Given the description of an element on the screen output the (x, y) to click on. 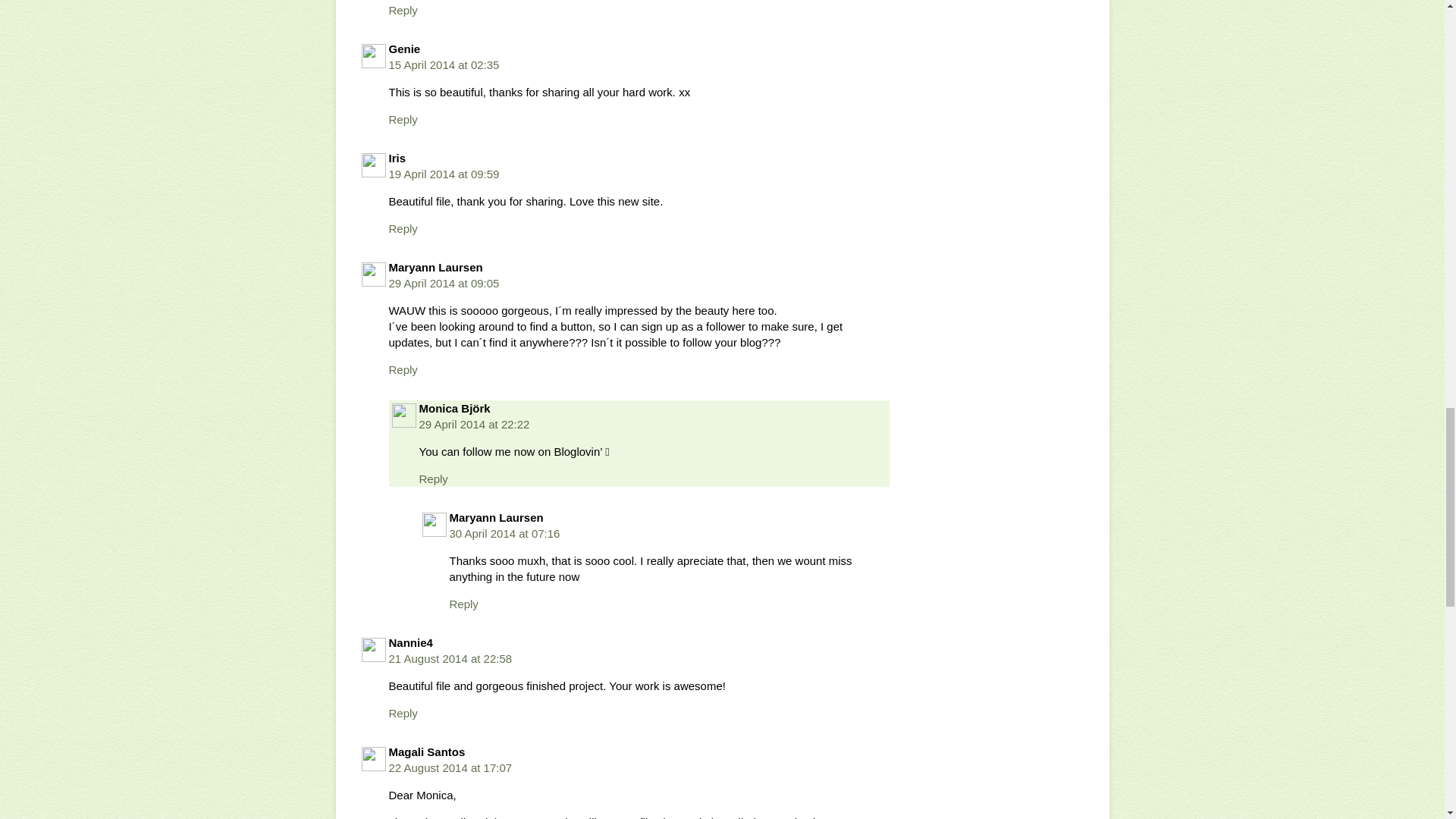
Reply (402, 369)
22 August 2014 at 17:07 (450, 767)
Reply (402, 228)
21 August 2014 at 22:58 (450, 658)
Reply (402, 712)
29 April 2014 at 22:22 (474, 423)
Reply (462, 603)
29 April 2014 at 09:05 (443, 282)
19 April 2014 at 09:59 (443, 173)
Reply (402, 10)
15 April 2014 at 02:35 (443, 64)
Reply (432, 478)
30 April 2014 at 07:16 (503, 533)
Reply (402, 119)
